Given the description of an element on the screen output the (x, y) to click on. 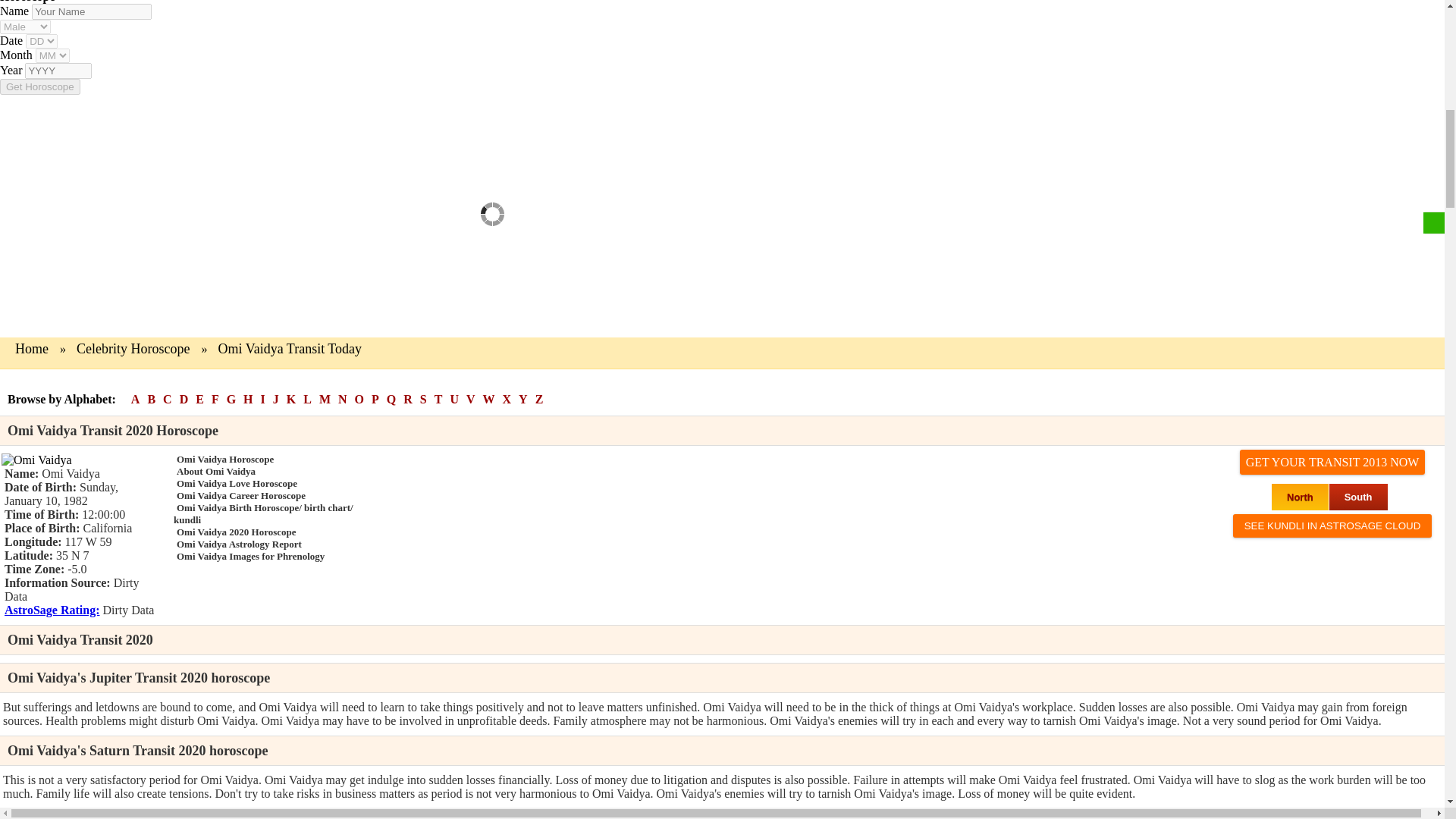
See kundli in AstroSage Cloud (1332, 525)
